Given the description of an element on the screen output the (x, y) to click on. 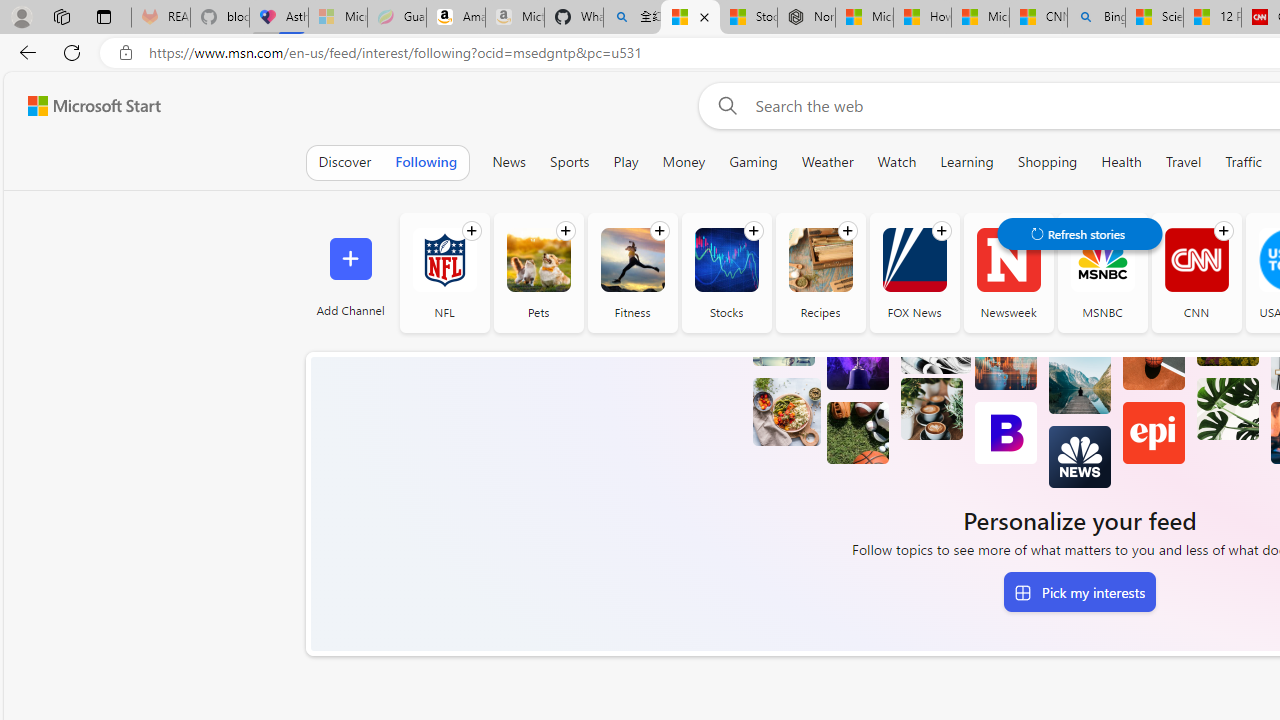
Traffic (1243, 162)
Sports (569, 161)
Stocks (726, 260)
How I Got Rid of Microsoft Edge's Unnecessary Features (922, 17)
Travel (1183, 161)
CNN (1195, 272)
Play (626, 162)
Money (684, 162)
FOX News (914, 260)
FOX News (914, 272)
Sports (569, 162)
Newsweek (1007, 272)
